Given the description of an element on the screen output the (x, y) to click on. 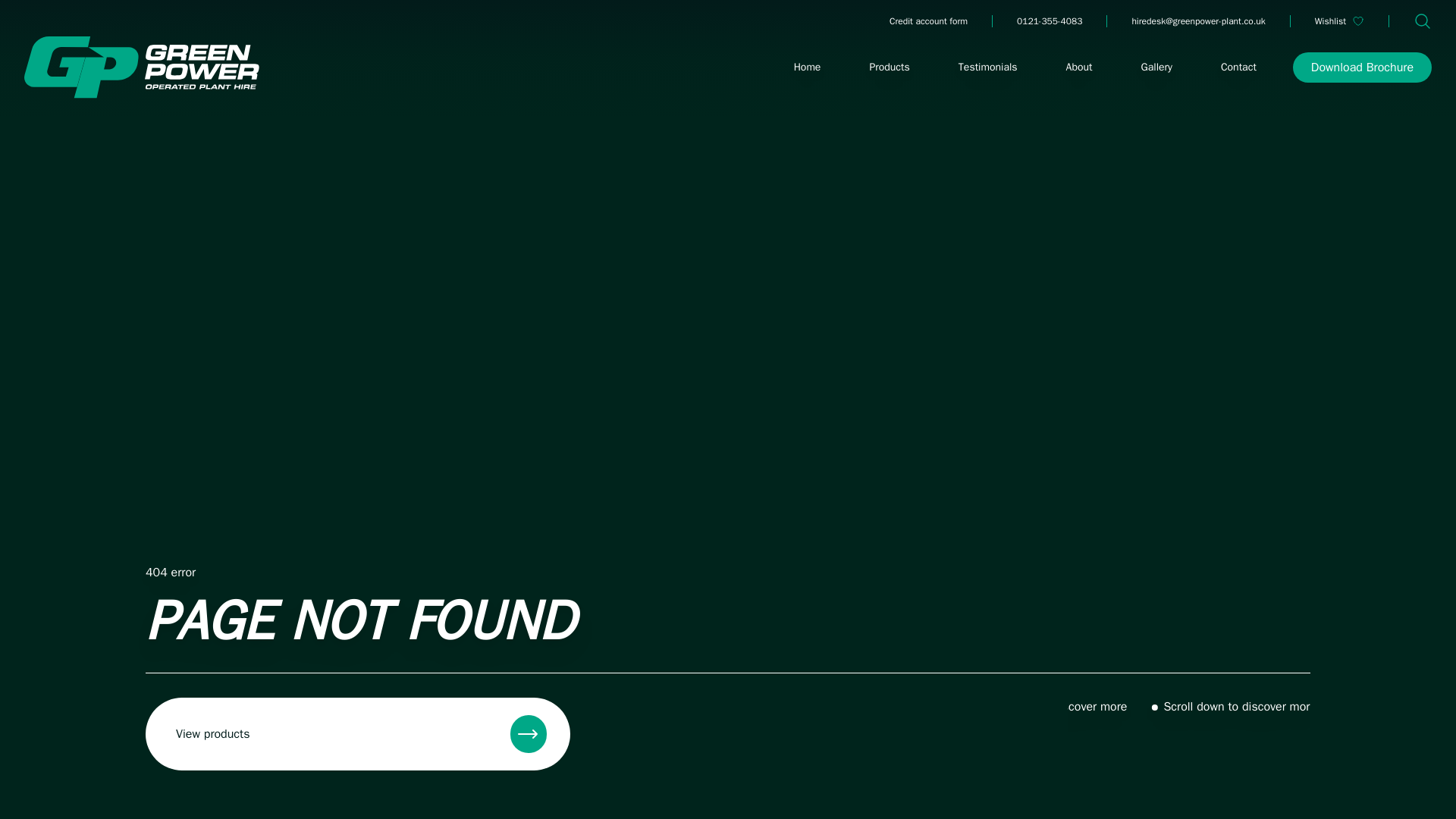
Products (889, 67)
Credit account form (928, 21)
Gallery (1157, 67)
About (1079, 67)
Contact (1238, 67)
Testimonials (987, 67)
0121-355-4083 (1048, 21)
Home (806, 67)
